Given the description of an element on the screen output the (x, y) to click on. 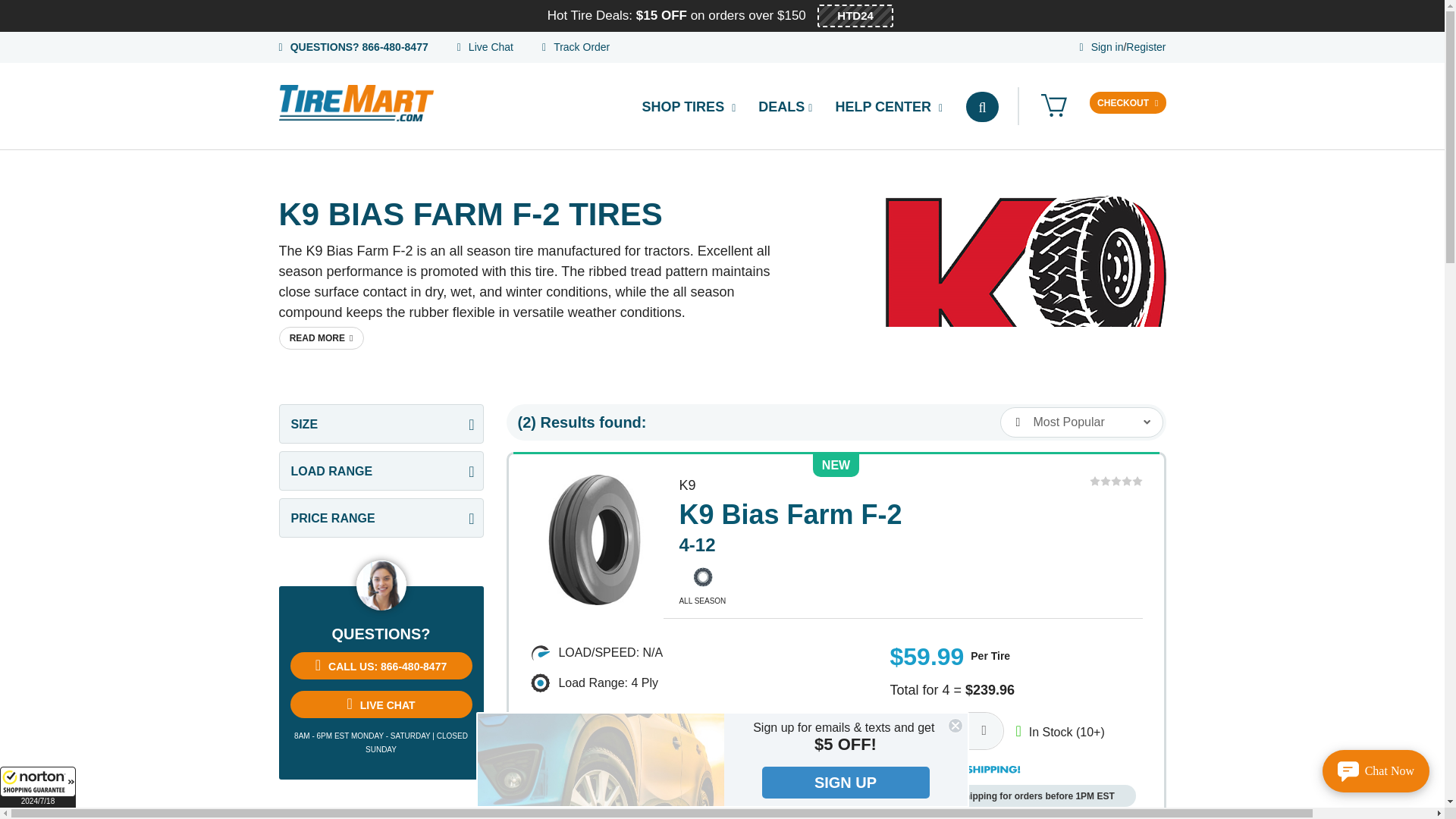
QUESTIONS? 866-480-8477 (358, 47)
Sign in (1107, 47)
Track Order (581, 47)
HTD24 (855, 15)
TireMart (599, 759)
4 (946, 730)
Live Chat (490, 47)
TireMart.com (356, 103)
Unused iFrame 1 (37, 786)
Register (1145, 47)
SHOP TIRES (688, 106)
